Given the description of an element on the screen output the (x, y) to click on. 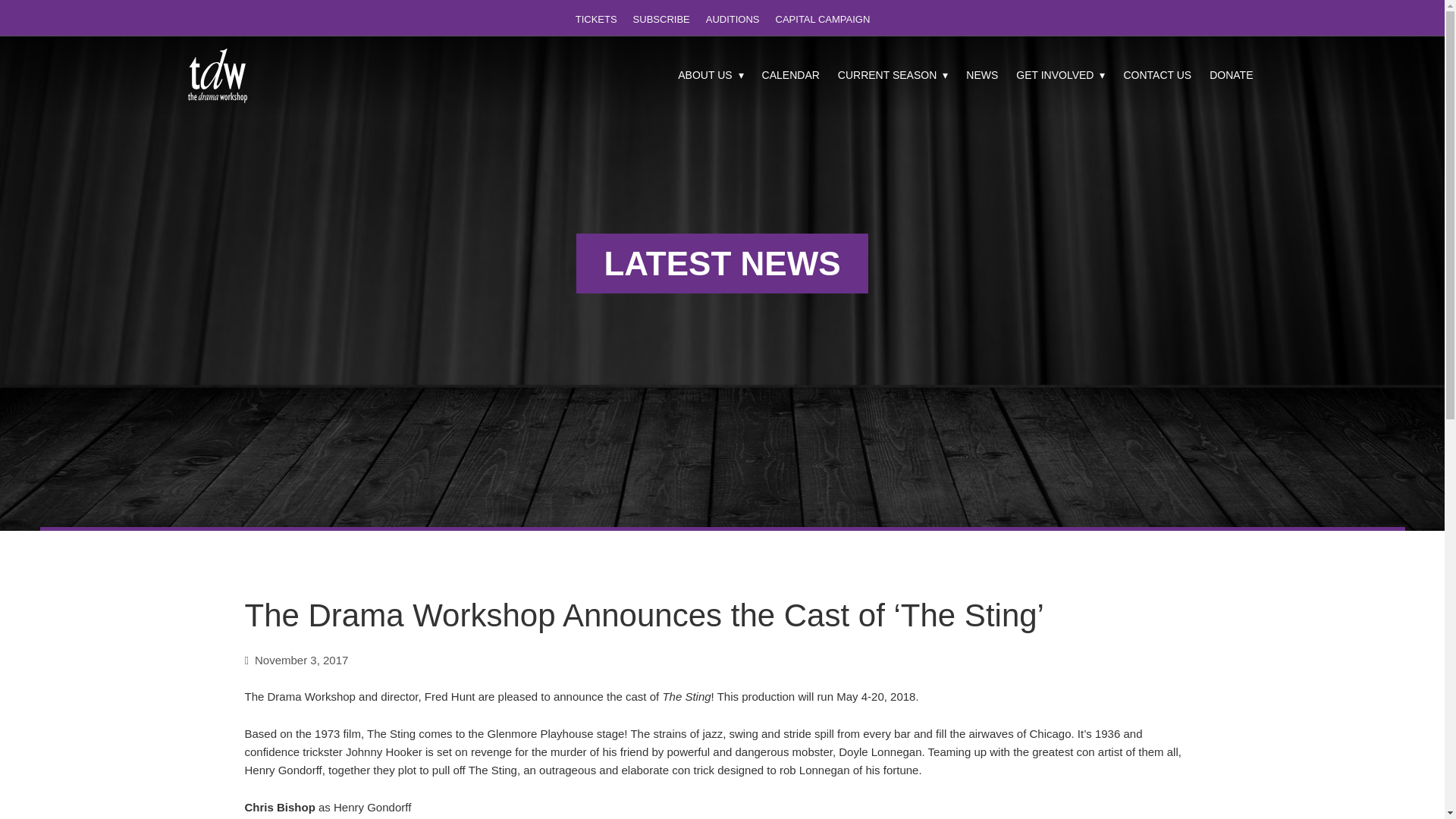
NEWS (981, 77)
The Drama Workshop (217, 75)
CALENDAR (790, 77)
ABOUT US (710, 77)
DONATE (1230, 77)
CURRENT SEASON (892, 77)
CONTACT US (1156, 77)
AUDITIONS (731, 18)
SUBSCRIBE (660, 18)
GET INVOLVED (1060, 77)
